Given the description of an element on the screen output the (x, y) to click on. 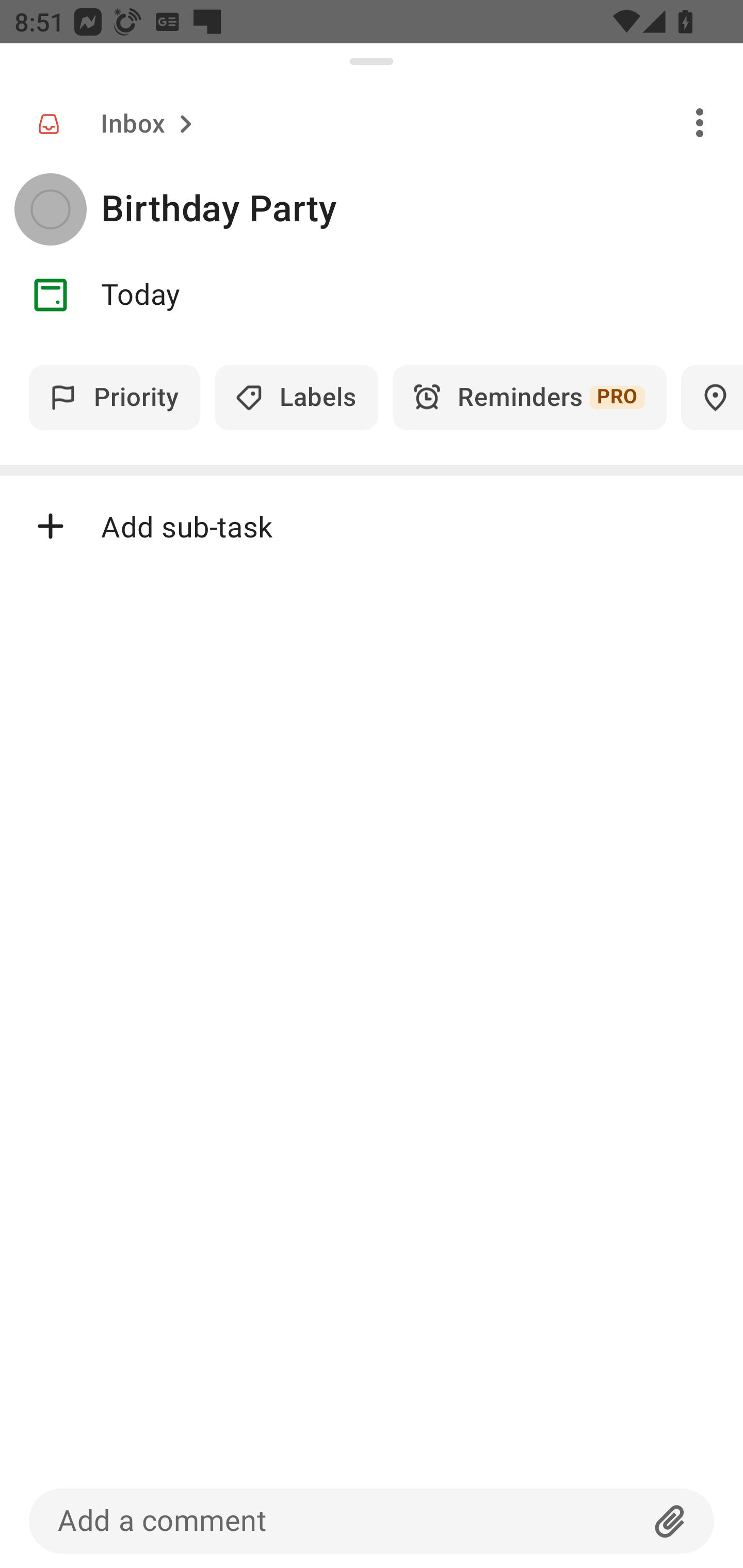
Overflow menu (699, 122)
Complete (50, 209)
Birthday Party​ (422, 209)
Date Today (371, 295)
Priority (113, 397)
Labels (296, 397)
Reminders PRO (529, 397)
Locations PRO (712, 397)
Add sub-task (371, 525)
Add a comment Attachment (371, 1520)
Attachment (670, 1520)
